Given the description of an element on the screen output the (x, y) to click on. 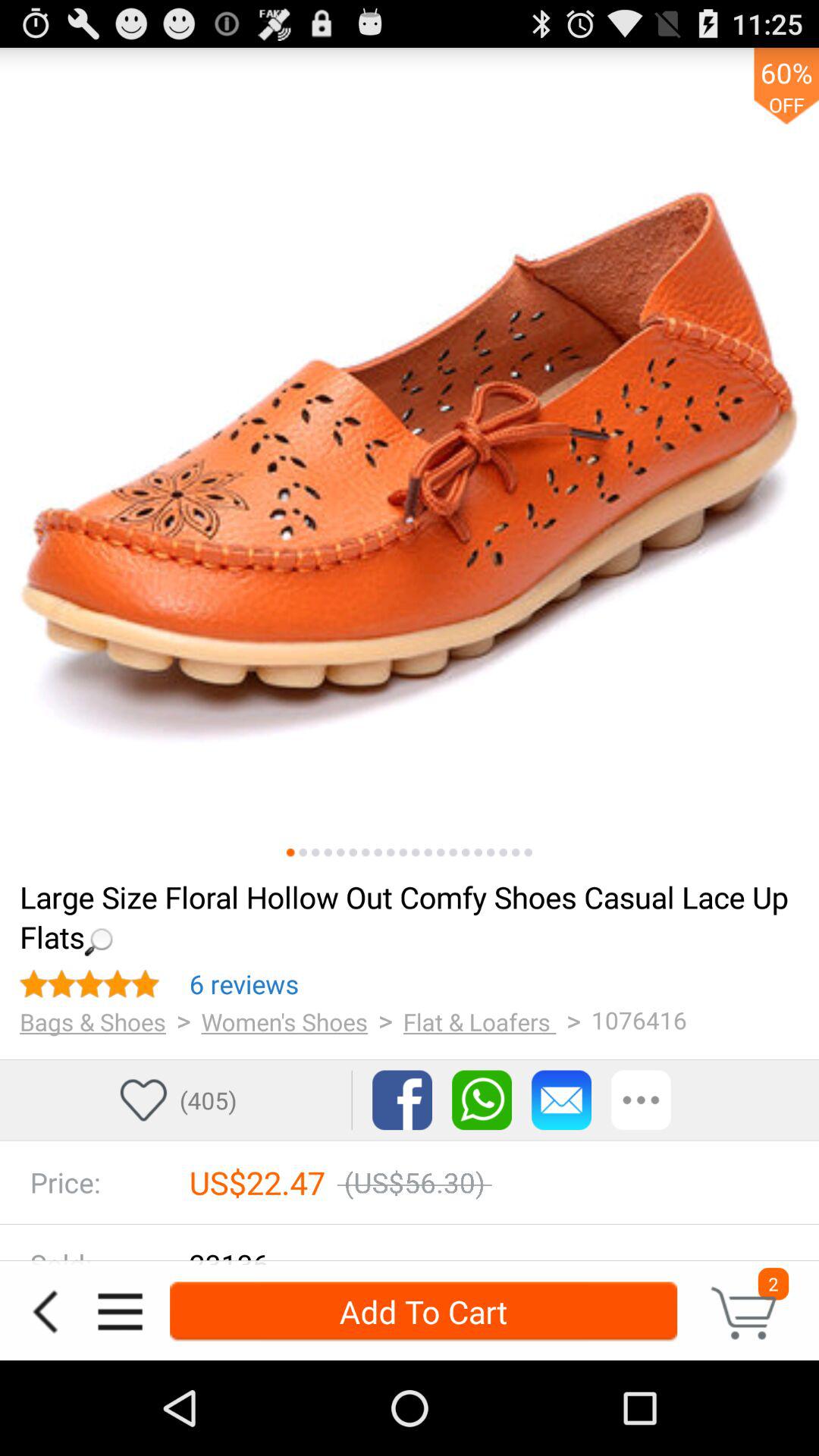
comfort for use on the title only (428, 852)
